Given the description of an element on the screen output the (x, y) to click on. 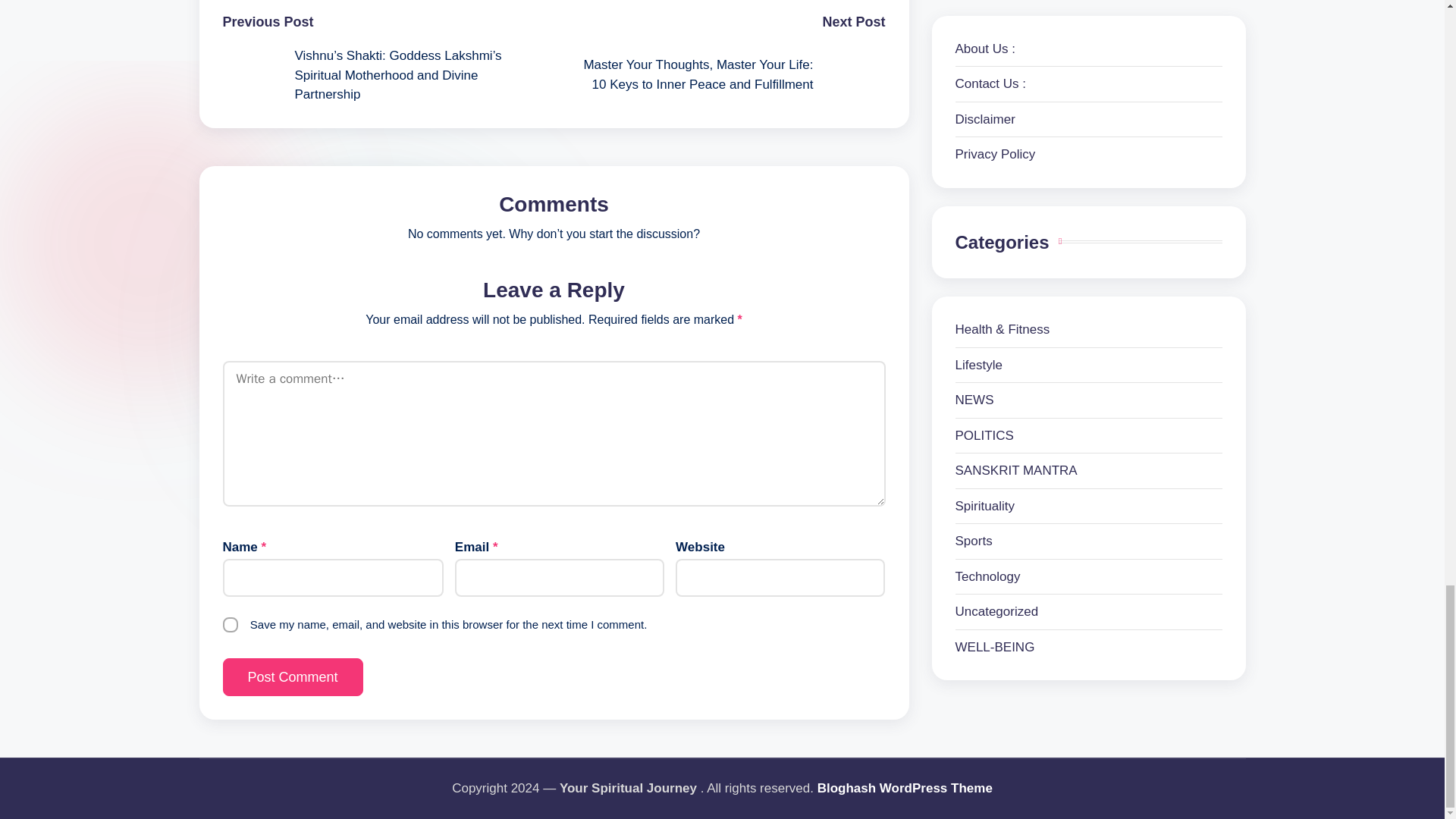
yes (230, 624)
Post Comment (292, 677)
